Given the description of an element on the screen output the (x, y) to click on. 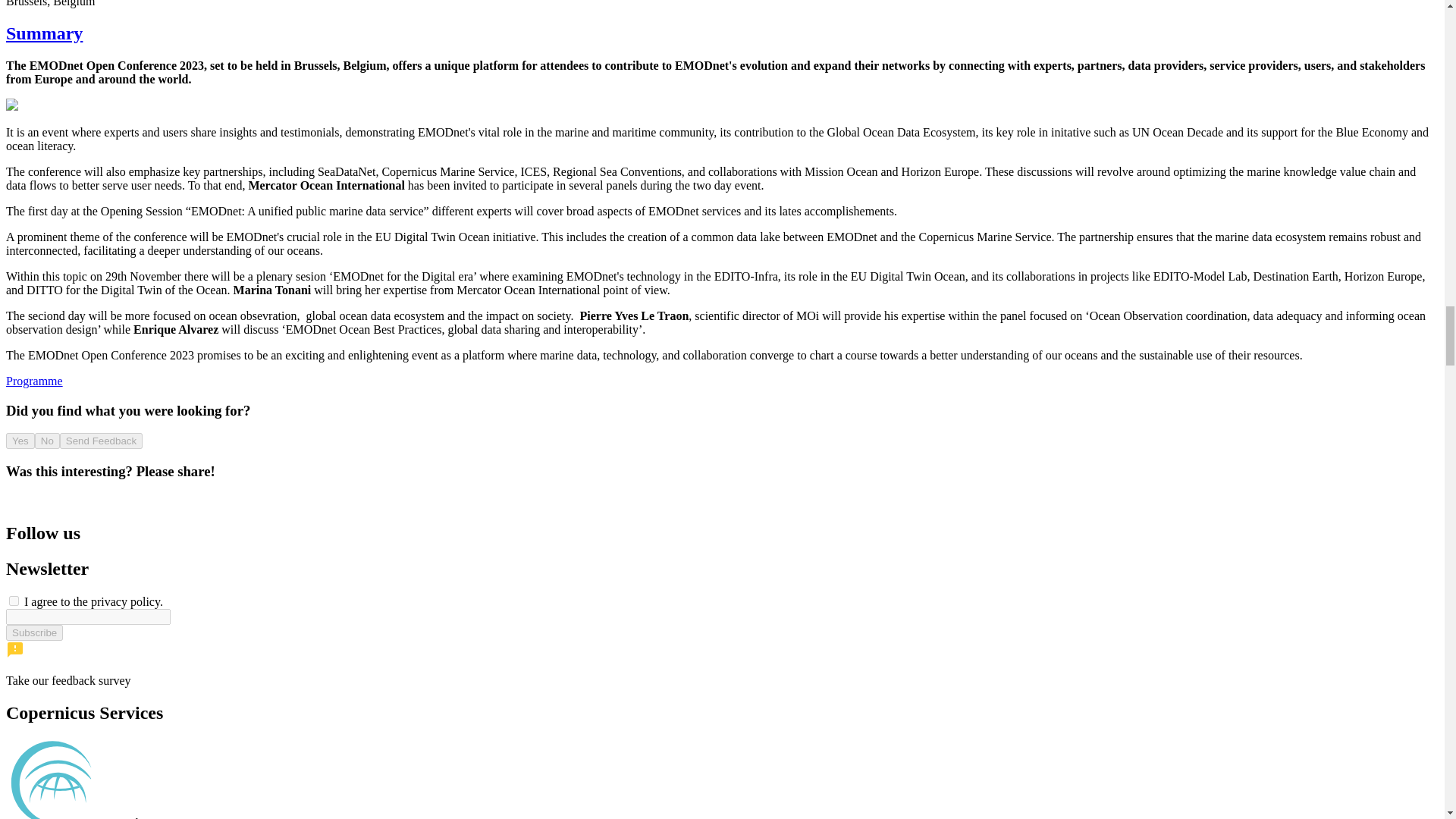
1 (13, 601)
Subscribe (33, 632)
Send Feedback (100, 440)
No (46, 440)
Programme (33, 380)
Yes (19, 440)
